Given the description of an element on the screen output the (x, y) to click on. 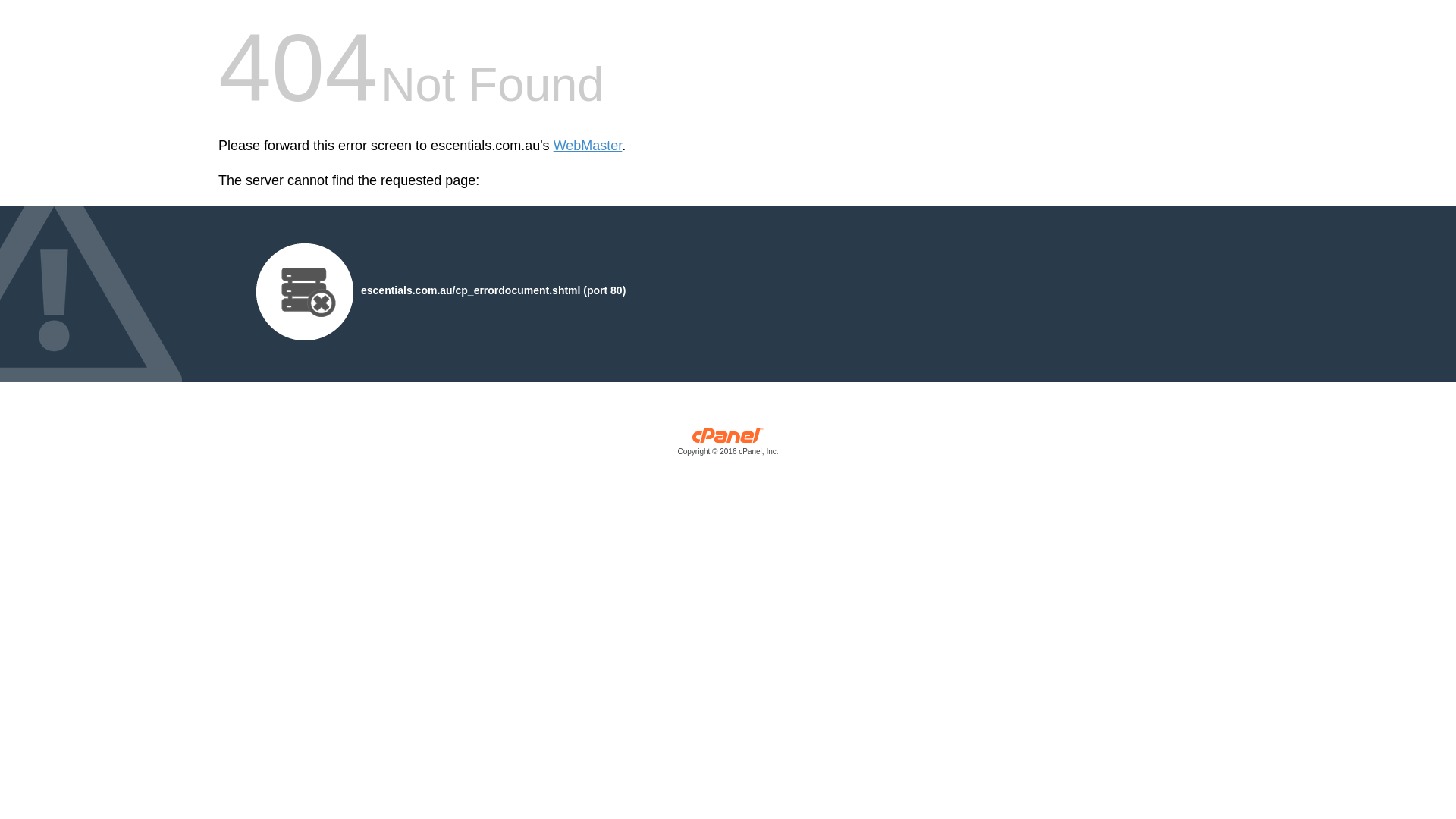
WebMaster Element type: text (587, 145)
